Given the description of an element on the screen output the (x, y) to click on. 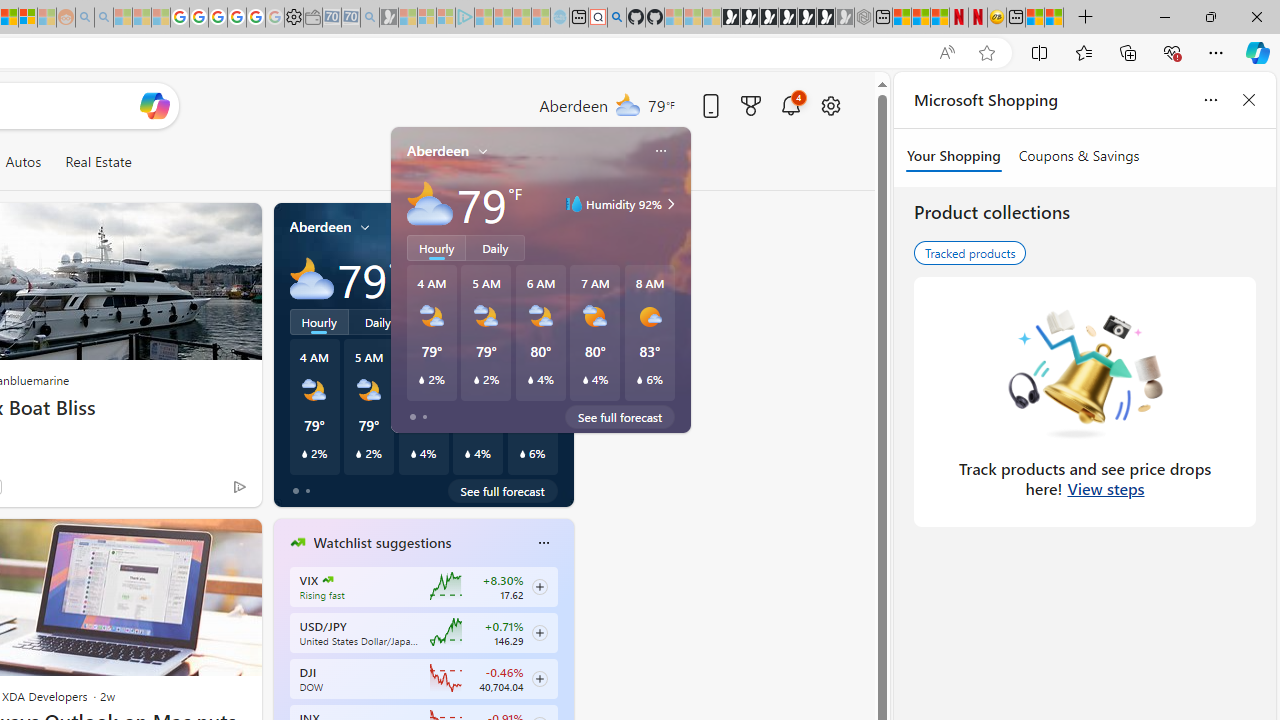
This story is trending (200, 490)
